Given the description of an element on the screen output the (x, y) to click on. 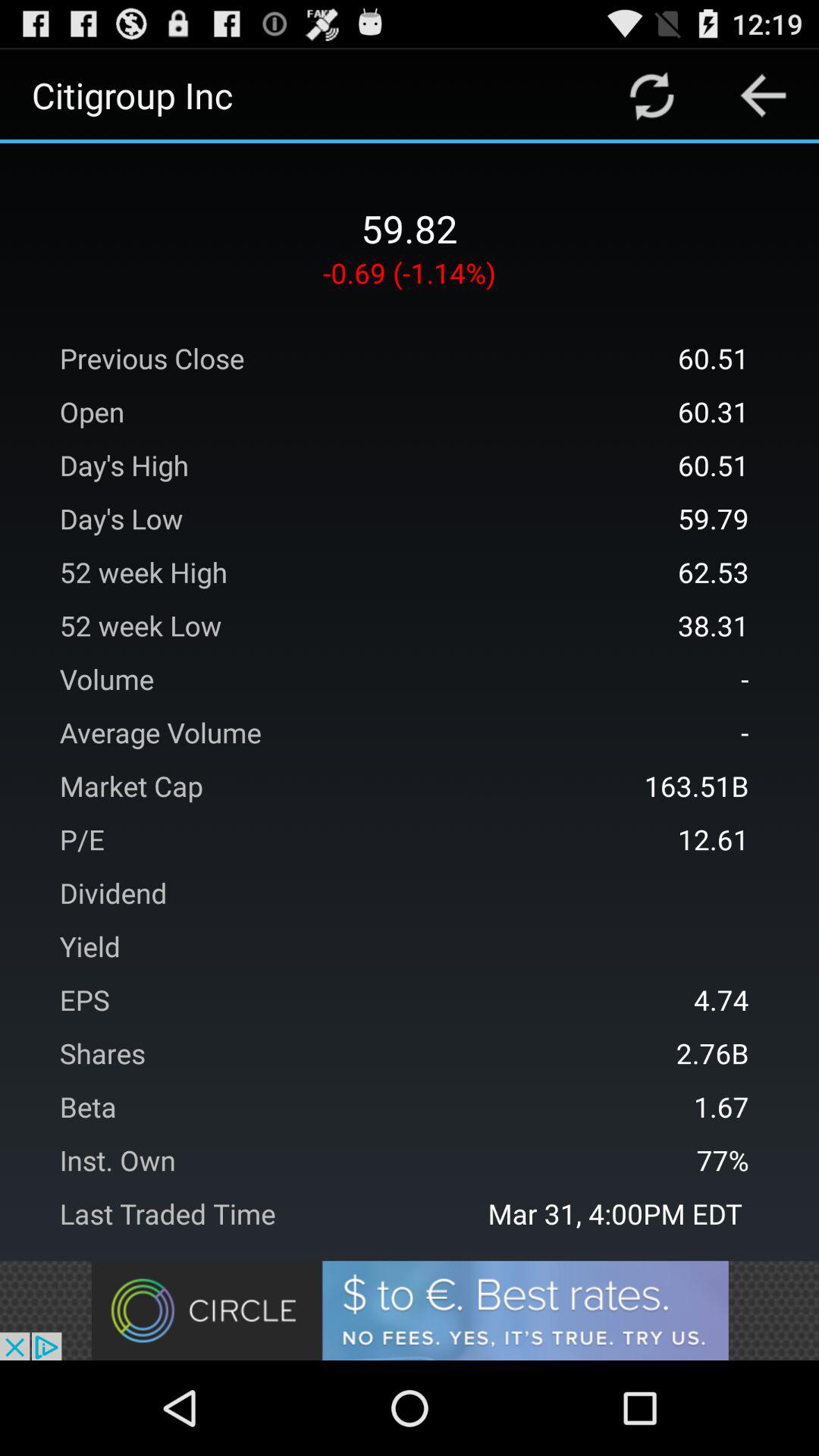
menu paga (651, 95)
